Given the description of an element on the screen output the (x, y) to click on. 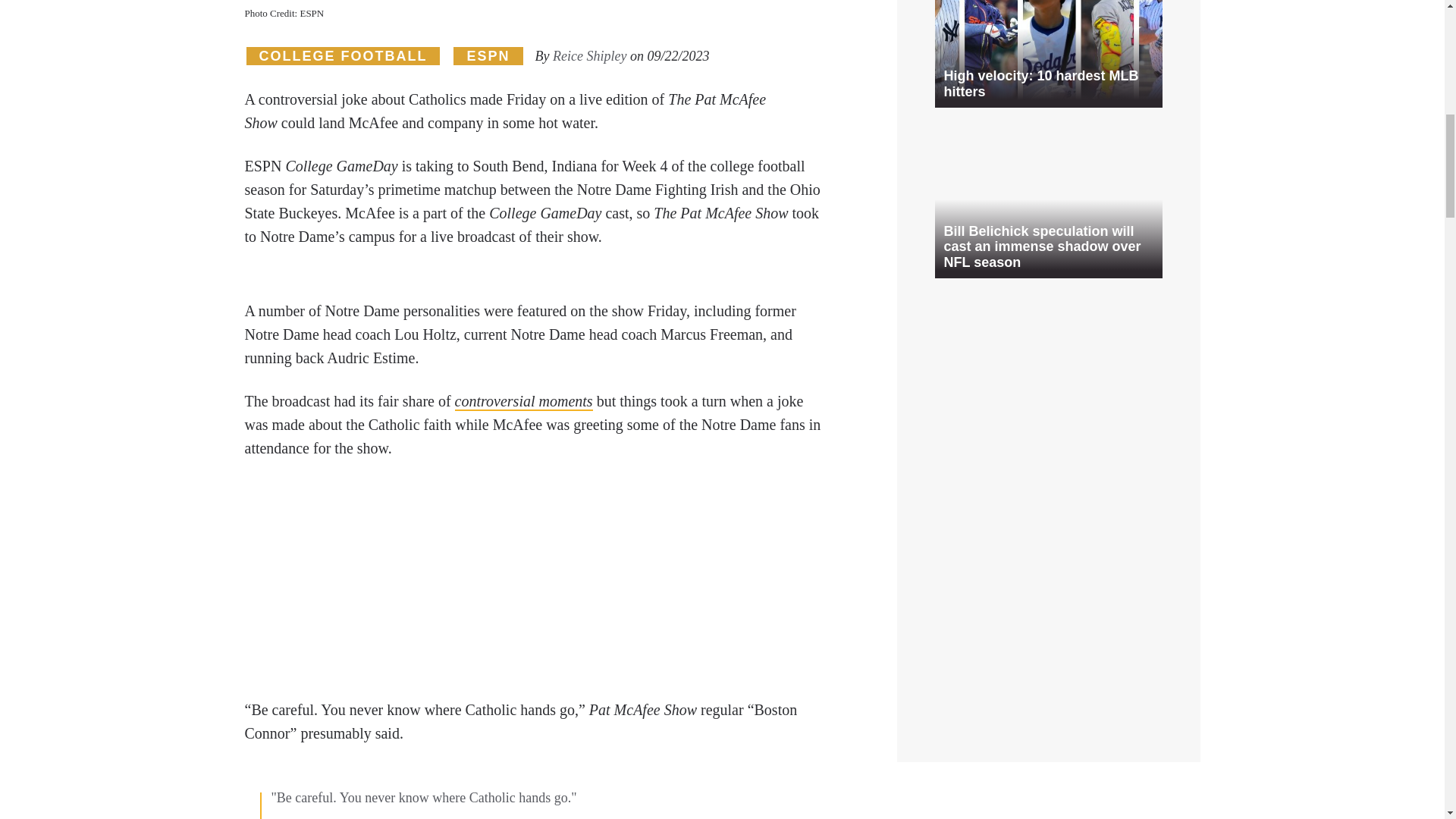
View all posts in College Football (342, 56)
View all posts in ESPN (487, 56)
